Given the description of an element on the screen output the (x, y) to click on. 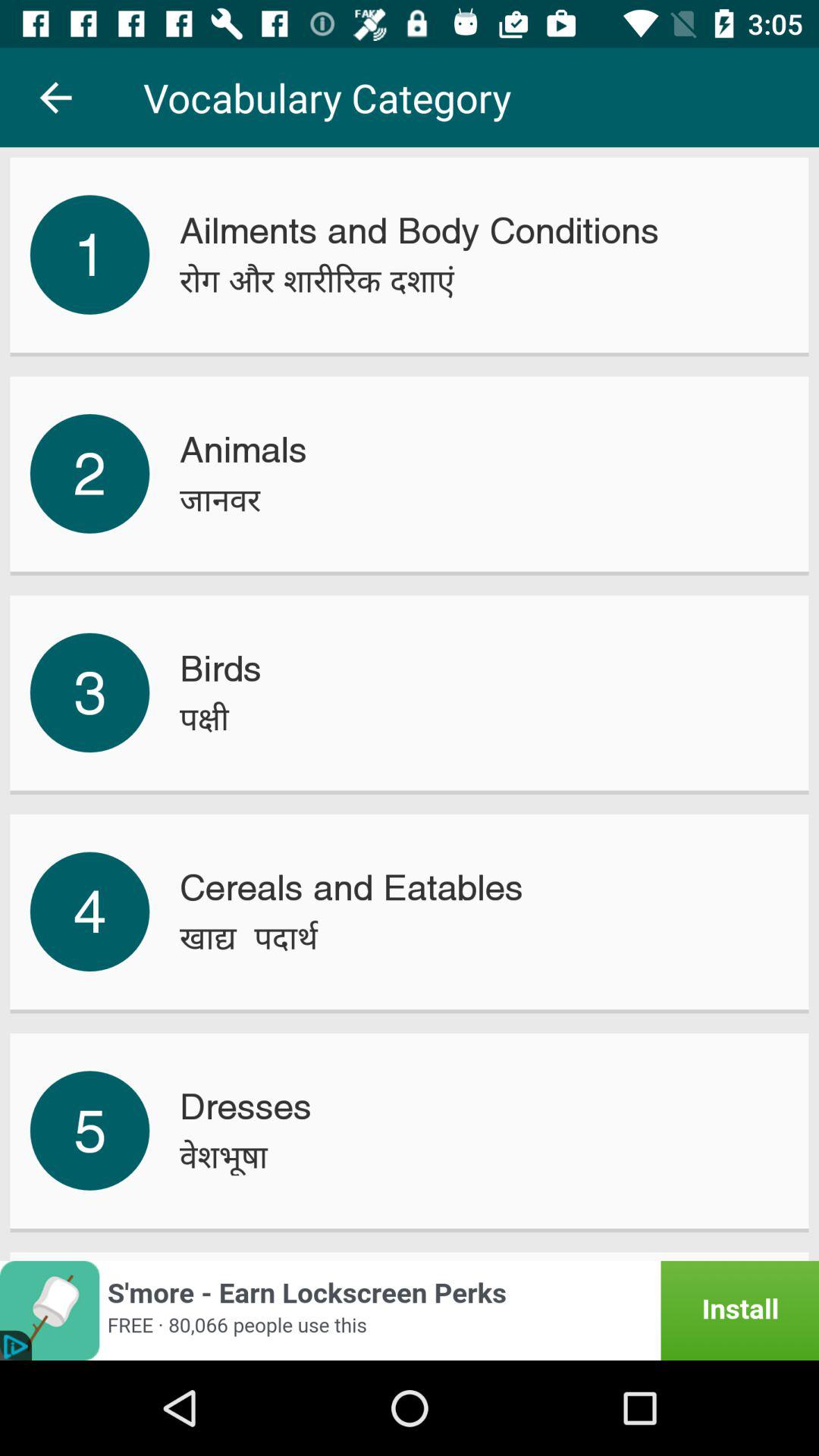
open icon above 3 icon (89, 473)
